Given the description of an element on the screen output the (x, y) to click on. 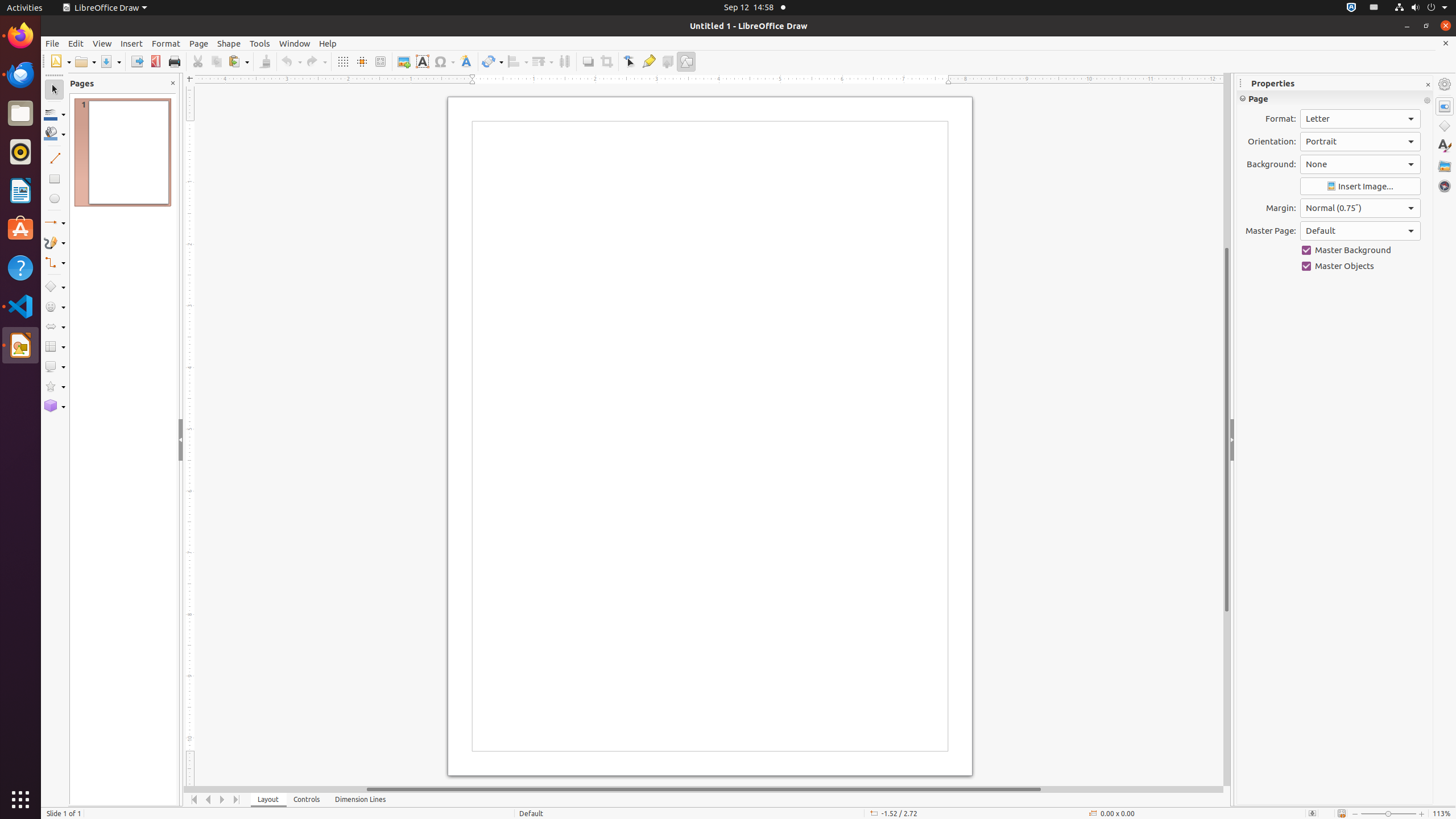
Connectors Element type: push-button (54, 262)
Rectangle Element type: push-button (53, 178)
Files Element type: push-button (20, 113)
Transformations Element type: push-button (492, 61)
Lines and Arrows Element type: push-button (54, 222)
